Given the description of an element on the screen output the (x, y) to click on. 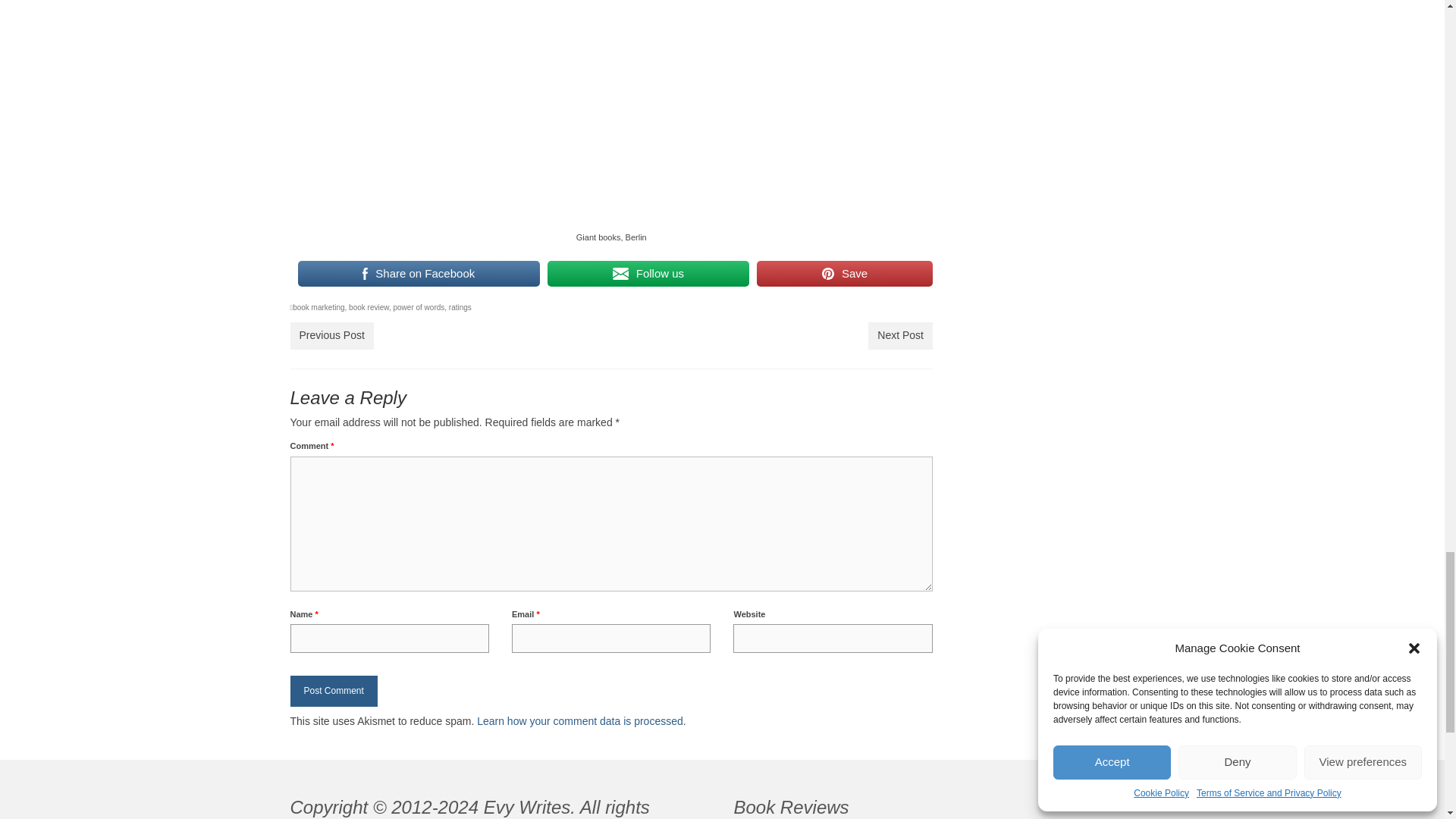
Post Comment (333, 690)
